Given the description of an element on the screen output the (x, y) to click on. 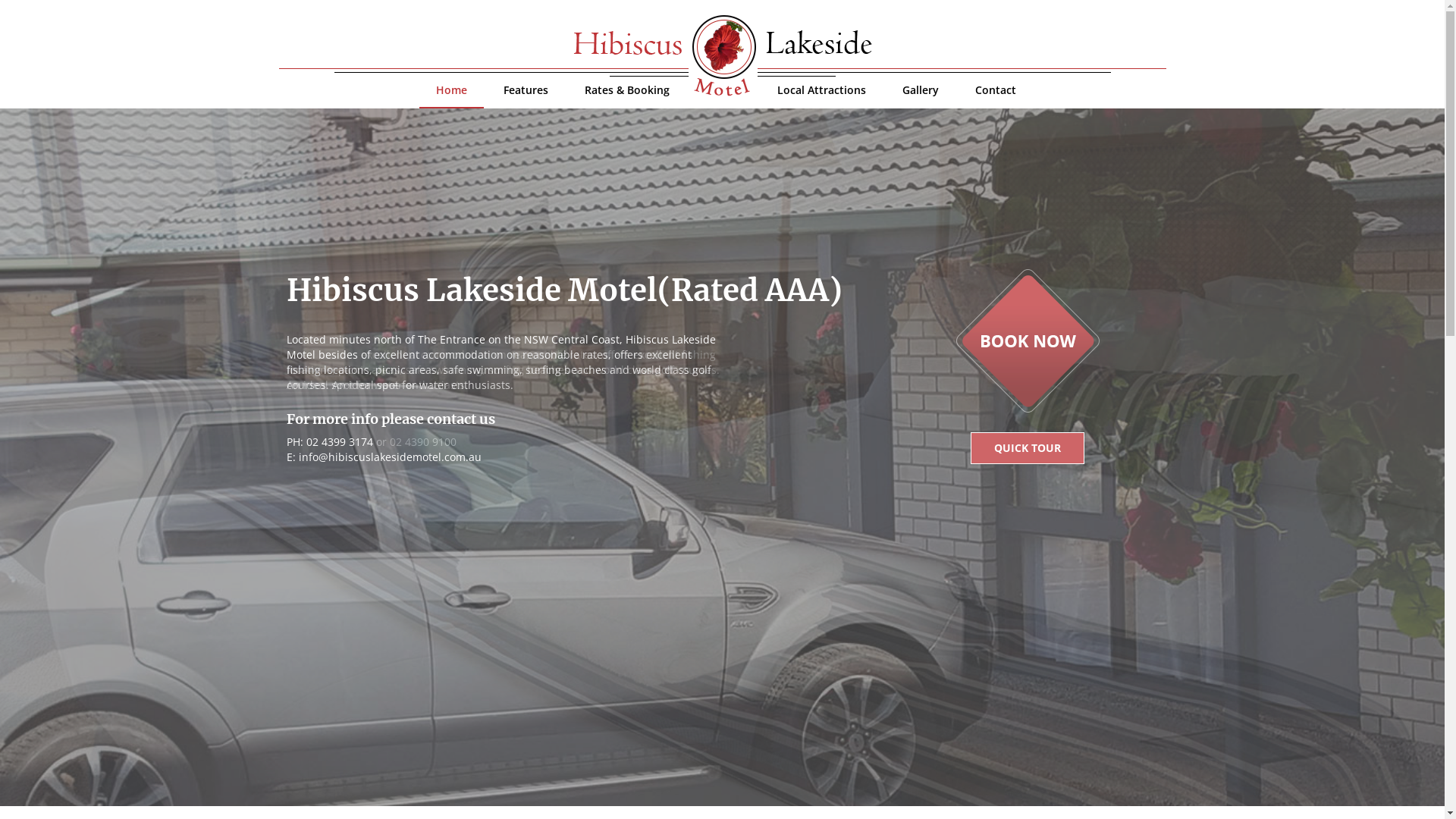
Hibiscus Lakeside Motel Element type: hover (722, 55)
Features Element type: text (525, 96)
info@hibiscuslakesidemotel.com.au Element type: text (389, 456)
Queen + Single Bed Room Element type: hover (722, 457)
Contact Element type: text (995, 96)
Rates & Booking Element type: text (626, 96)
Home Element type: text (451, 96)
Local Attractions Element type: text (821, 96)
QUICK TOUR Element type: text (1027, 448)
Gallery Element type: text (920, 96)
Book Now Element type: hover (1027, 340)
